Given the description of an element on the screen output the (x, y) to click on. 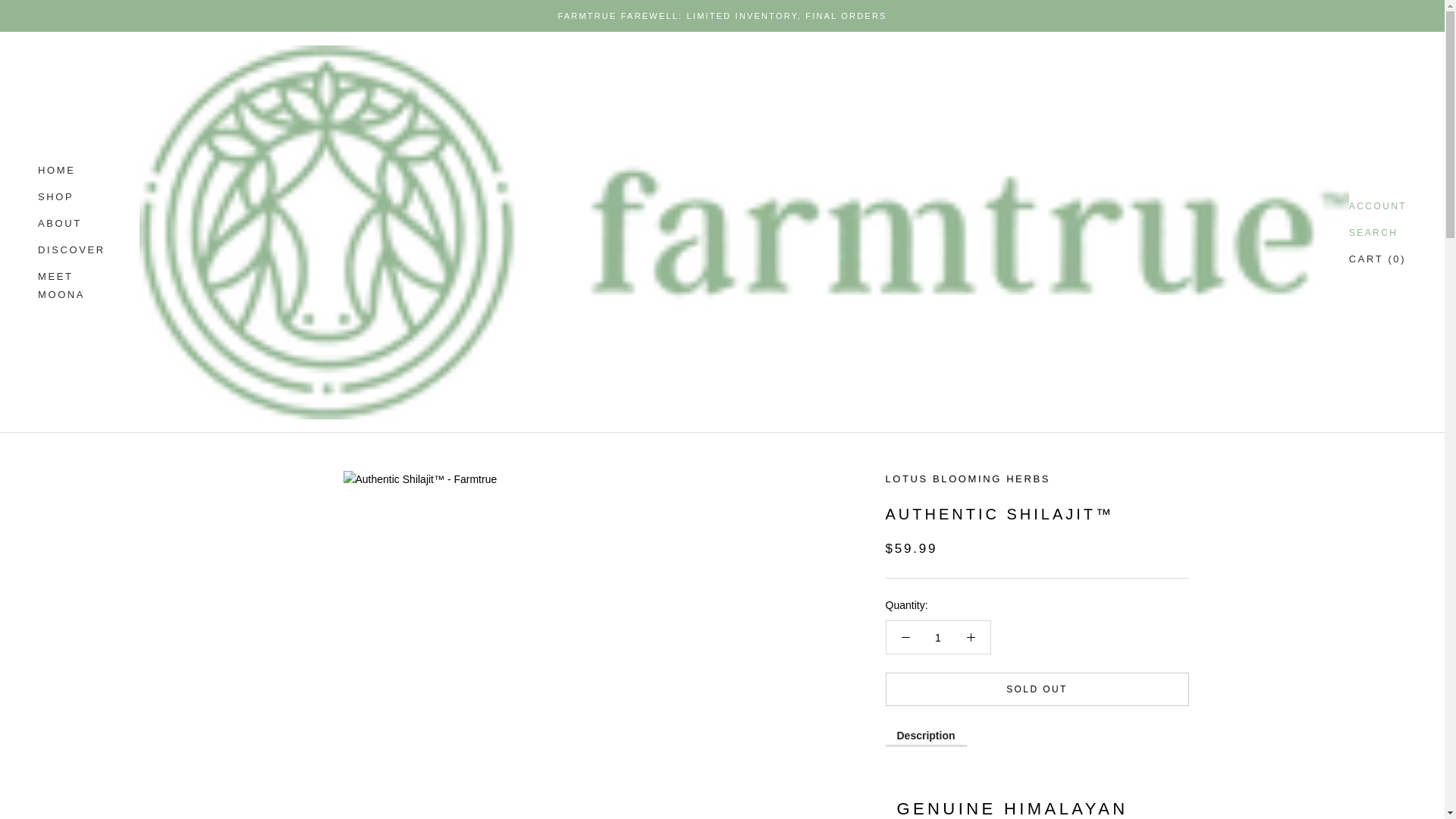
1 (938, 637)
